Given the description of an element on the screen output the (x, y) to click on. 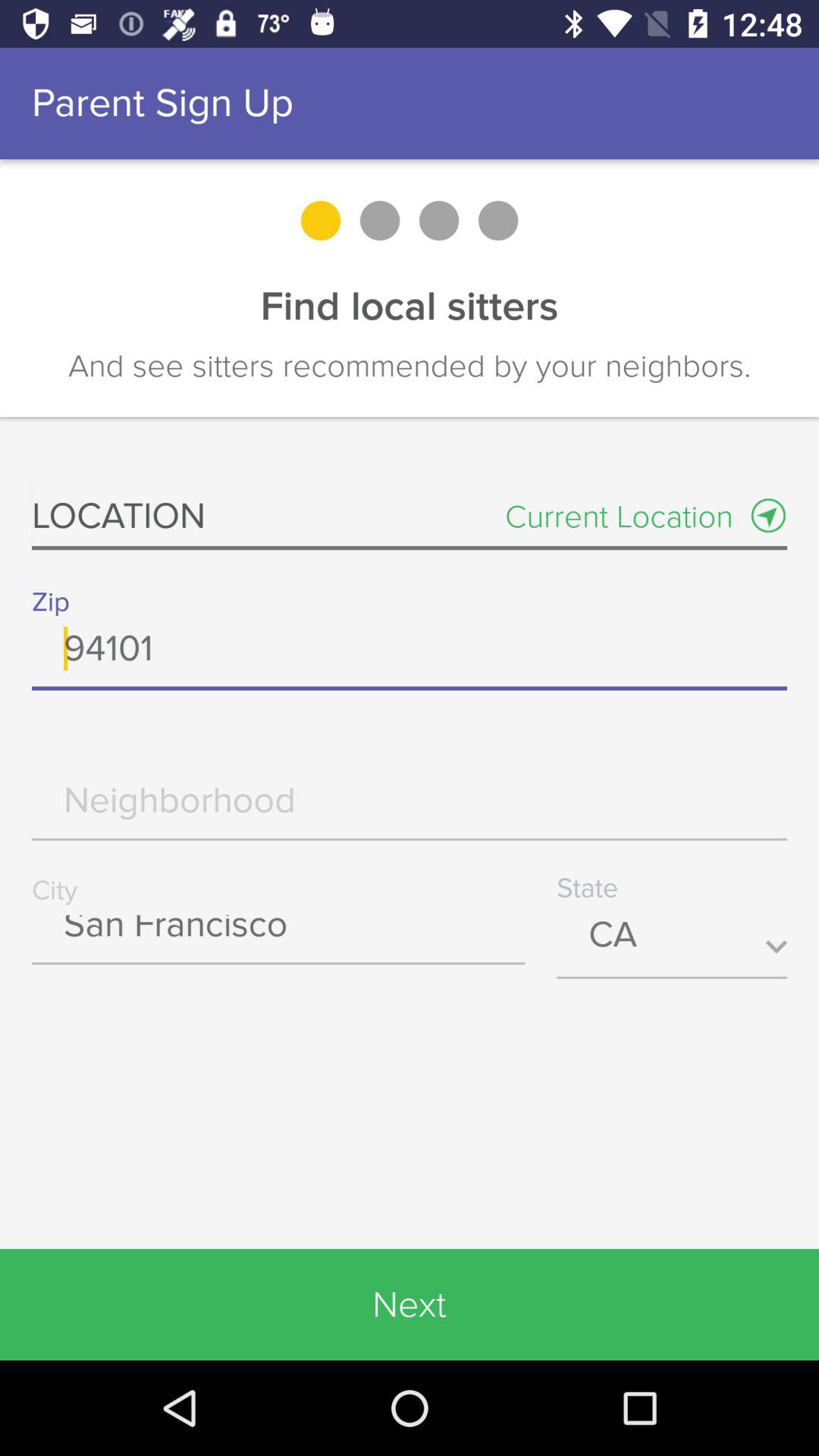
enter neighborhood (409, 811)
